Given the description of an element on the screen output the (x, y) to click on. 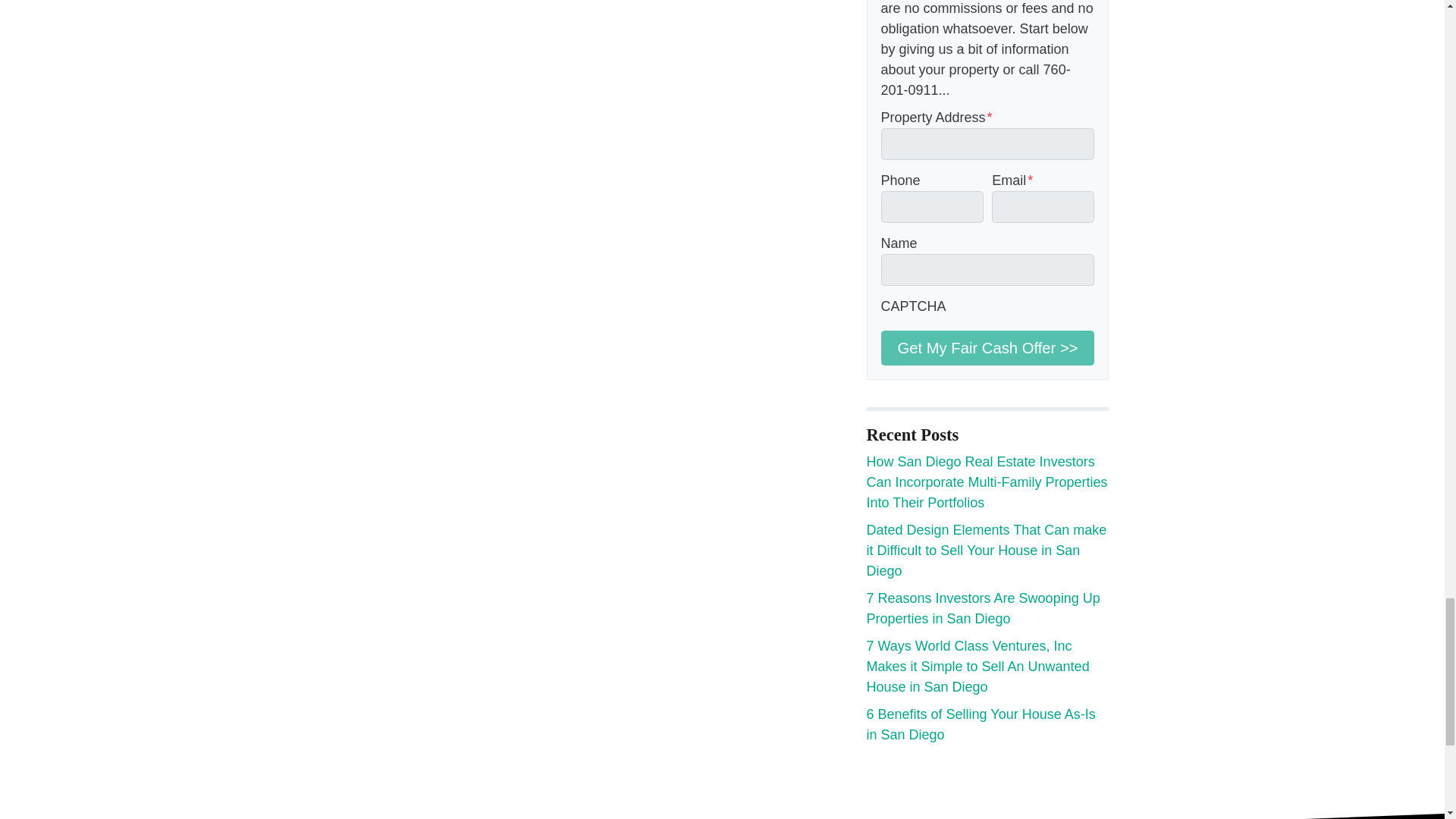
7 Reasons Investors Are Swooping Up Properties in San Diego (982, 608)
6 Benefits of Selling Your House As-Is in San Diego (980, 724)
